Given the description of an element on the screen output the (x, y) to click on. 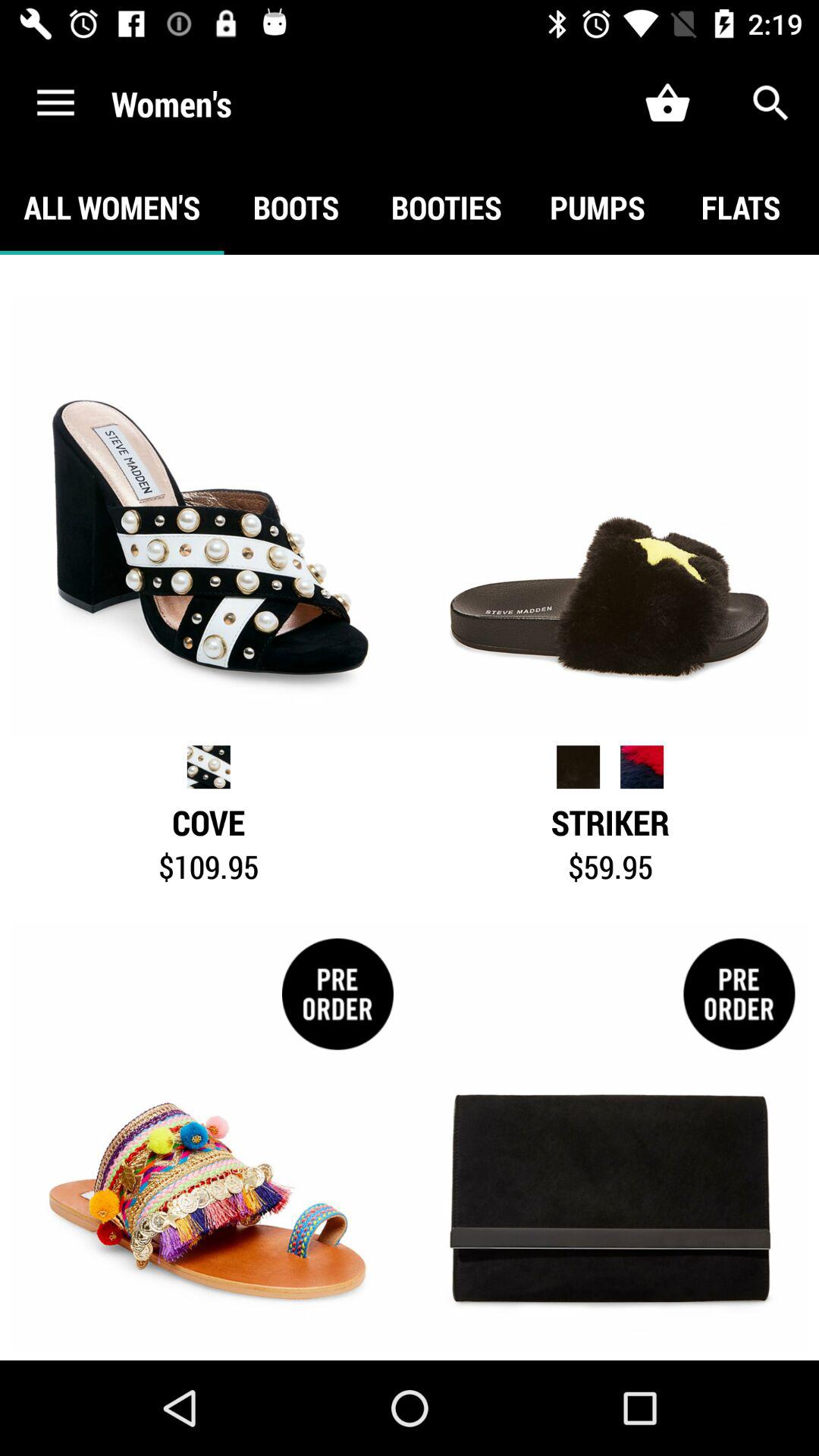
select icon above flats icon (771, 103)
